Given the description of an element on the screen output the (x, y) to click on. 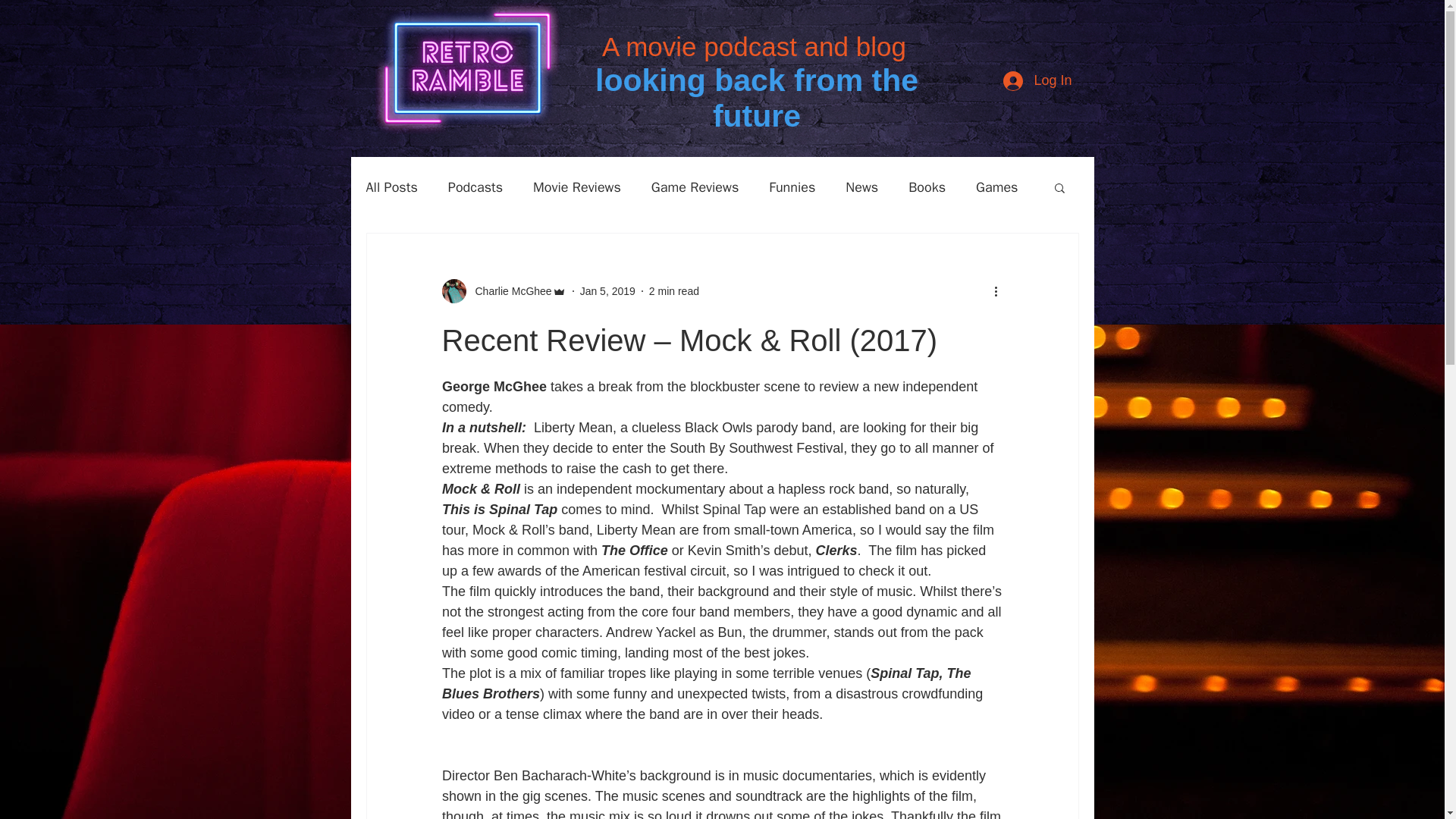
All Posts (390, 187)
Blog (667, 171)
News (861, 187)
Charlie McGhee (503, 291)
Books (926, 187)
Podcasts (475, 187)
Log In (1036, 80)
2 min read (673, 291)
About (774, 171)
Twitter Follow (1039, 141)
Contact (1007, 171)
Videos (886, 171)
Home (438, 171)
Game Reviews (694, 187)
Charlie  McGhee (508, 291)
